Given the description of an element on the screen output the (x, y) to click on. 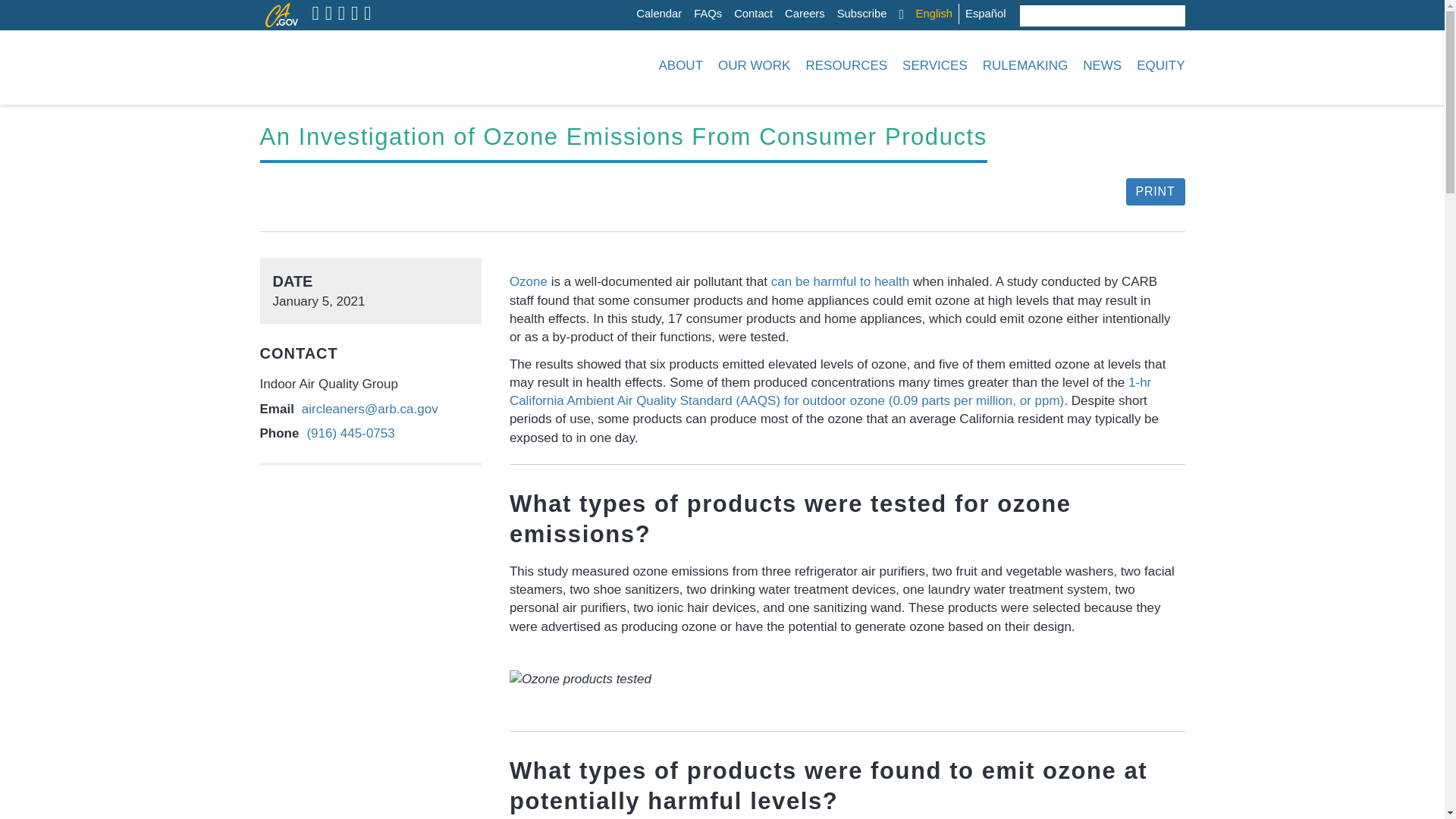
Careers (804, 14)
Calendar (658, 14)
Home (353, 65)
EQUITY (1157, 65)
SERVICES (935, 65)
FAQs (708, 14)
Contact (753, 14)
Skip to main content (639, 4)
ABOUT (680, 65)
Enter the terms you wish to search for. (1091, 15)
